Given the description of an element on the screen output the (x, y) to click on. 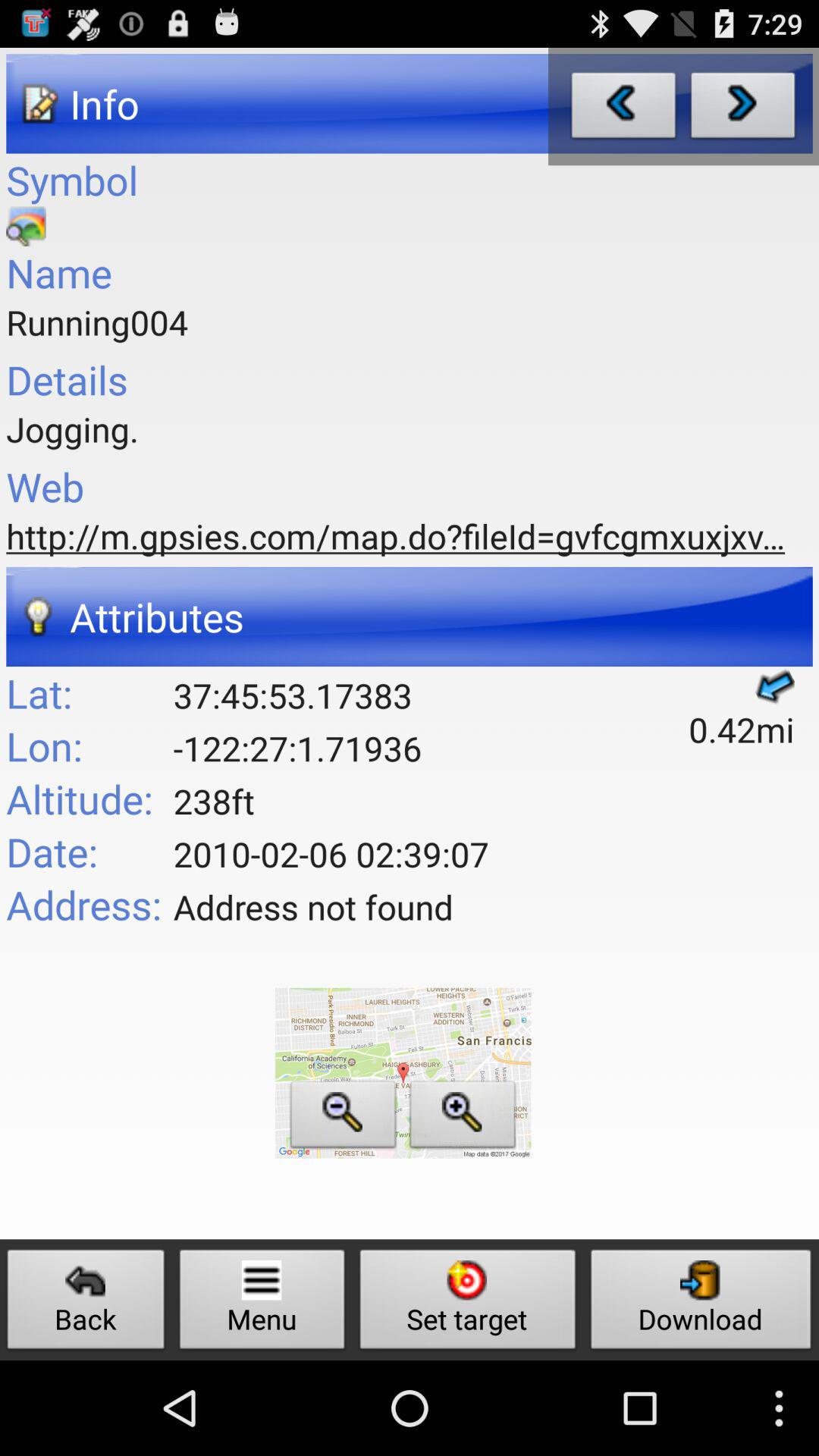
select icon to the left of set target icon (262, 1303)
